Given the description of an element on the screen output the (x, y) to click on. 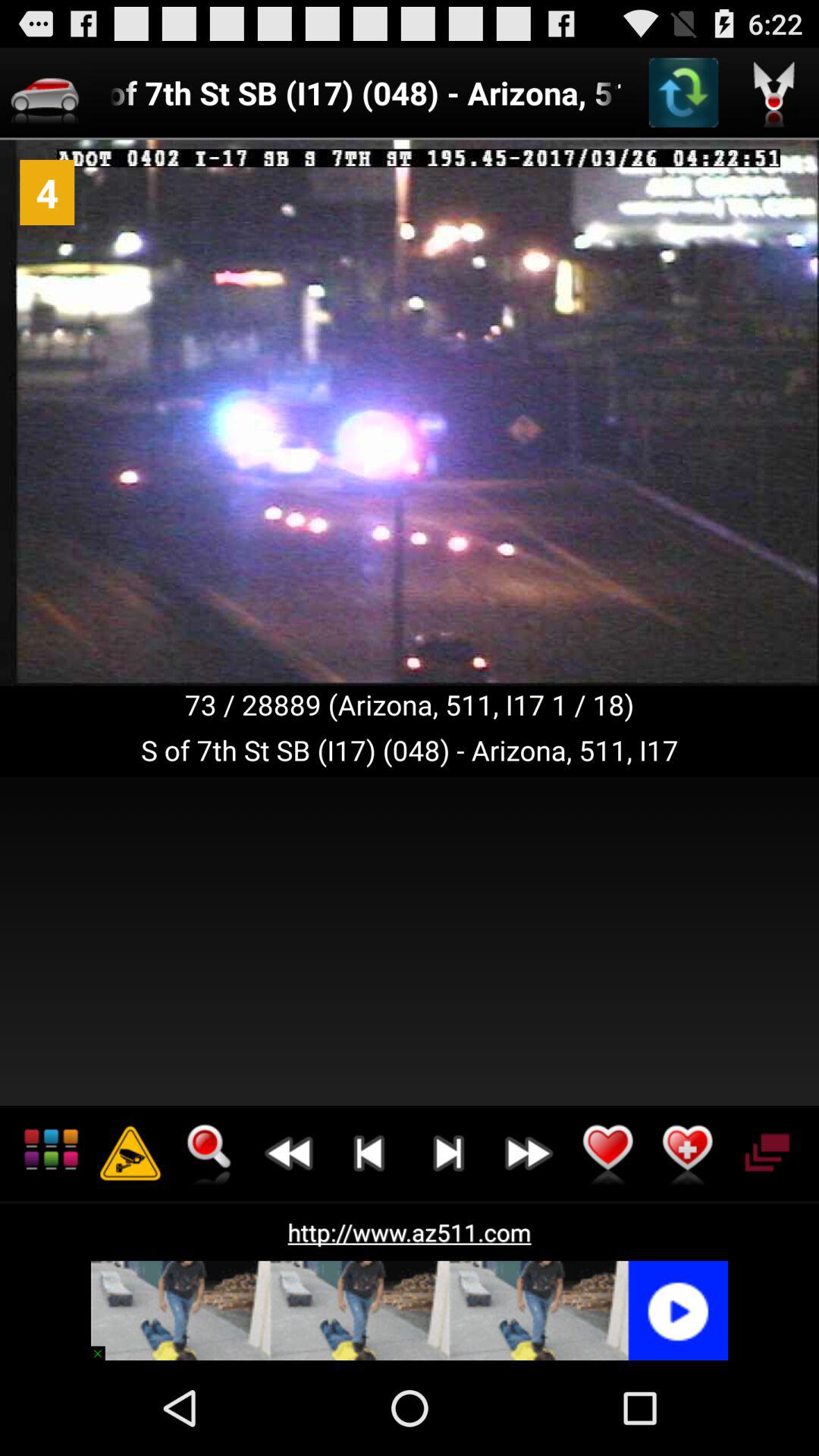
play advertisement (409, 1310)
